Given the description of an element on the screen output the (x, y) to click on. 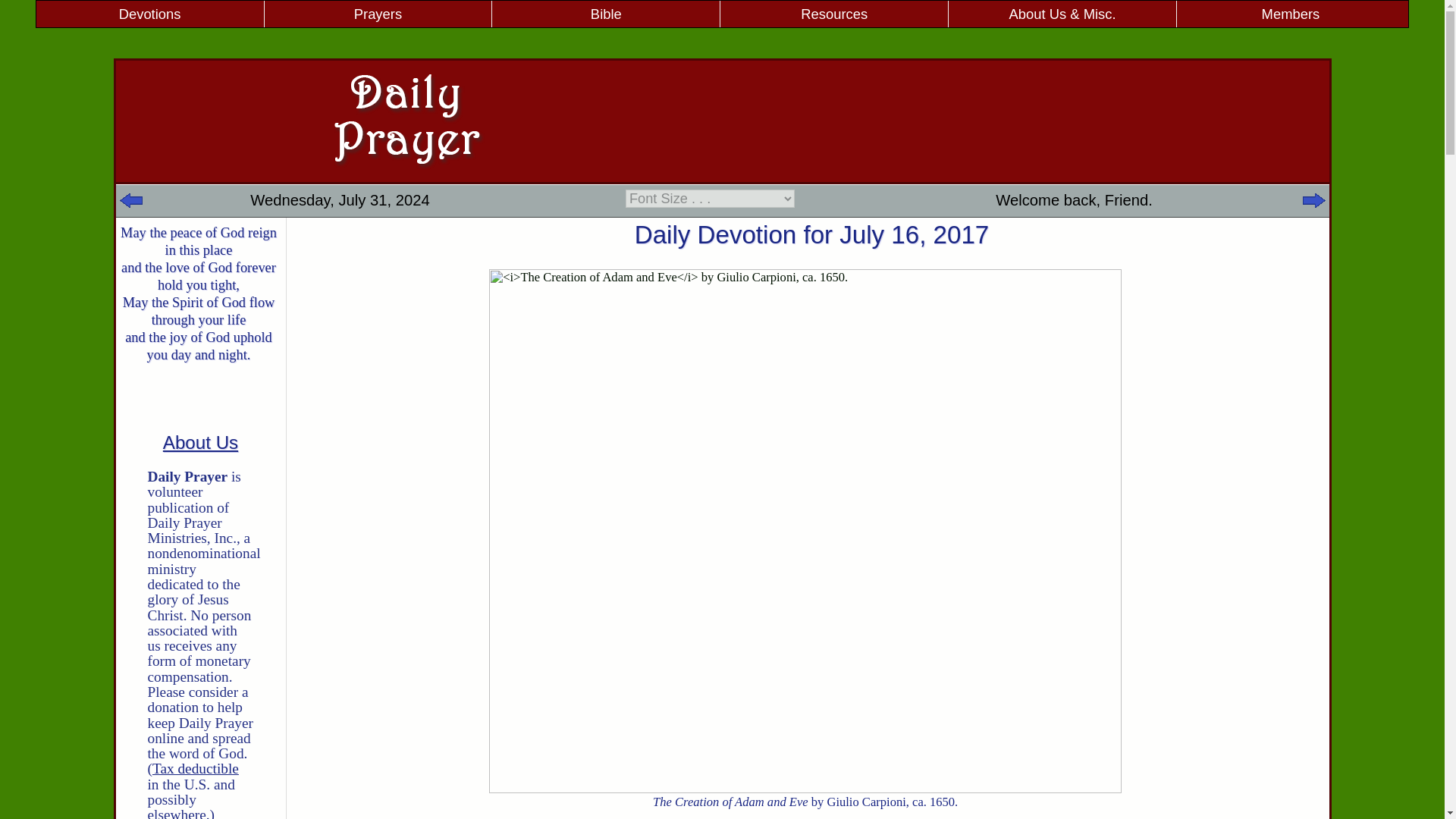
Bible (605, 13)
Prayers (377, 13)
Resources (833, 13)
Devotions (149, 13)
Members (1290, 13)
Tax deductible (195, 768)
